Given the description of an element on the screen output the (x, y) to click on. 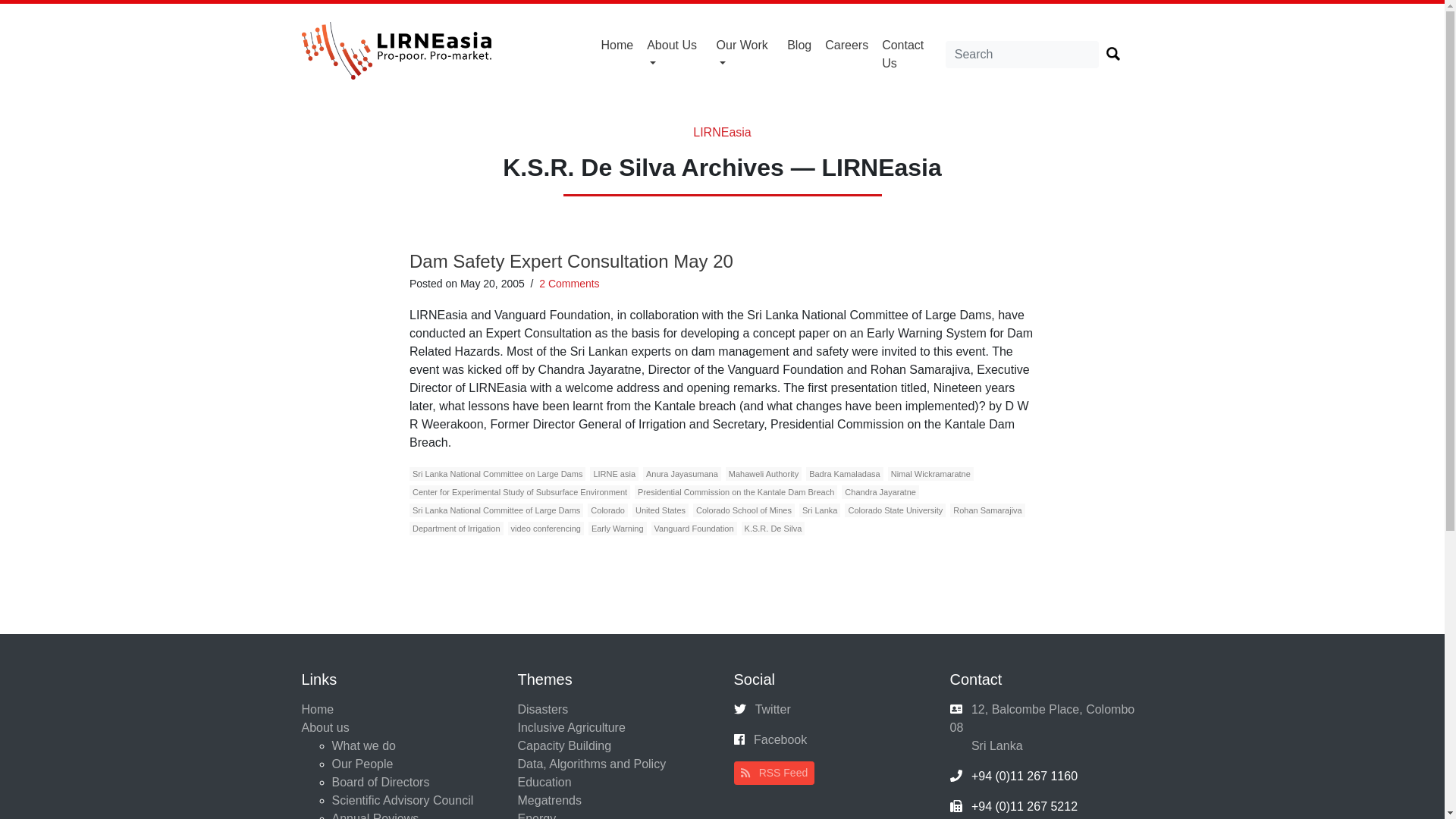
Our Work (745, 54)
Careers (846, 45)
LIRNEasia (722, 132)
About Us (674, 54)
2 Comments (568, 283)
Dam Safety Expert Consultation May 20 (571, 260)
Contact Us (909, 54)
Our Work (745, 54)
Home (617, 45)
Careers (846, 45)
Home (617, 45)
Blog (799, 45)
Blog (799, 45)
About us (674, 54)
Contact us (909, 54)
